Given the description of an element on the screen output the (x, y) to click on. 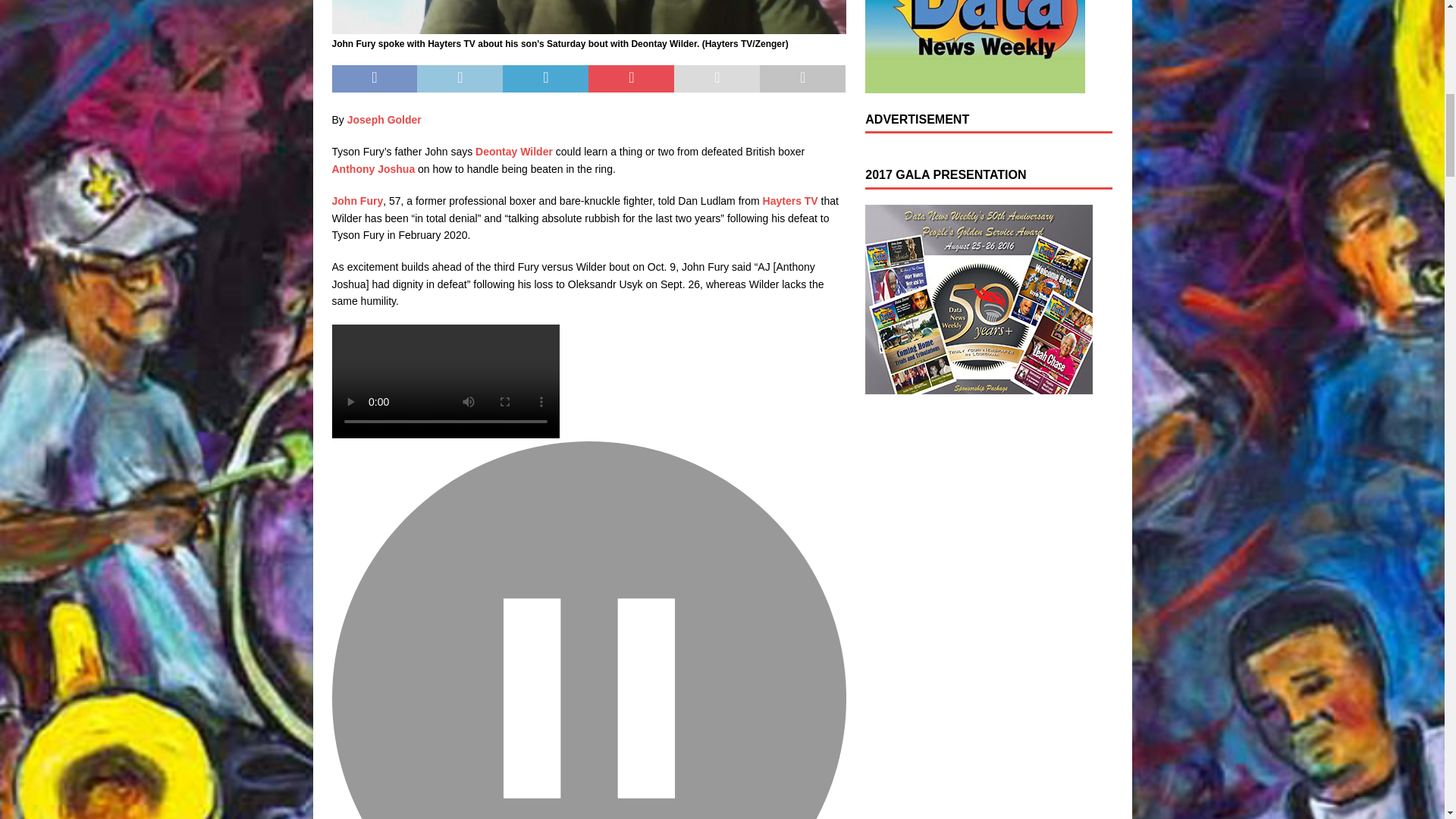
8fbb1baa-b536-48f4-a65e-231cb011cb88-1 (588, 17)
